Given the description of an element on the screen output the (x, y) to click on. 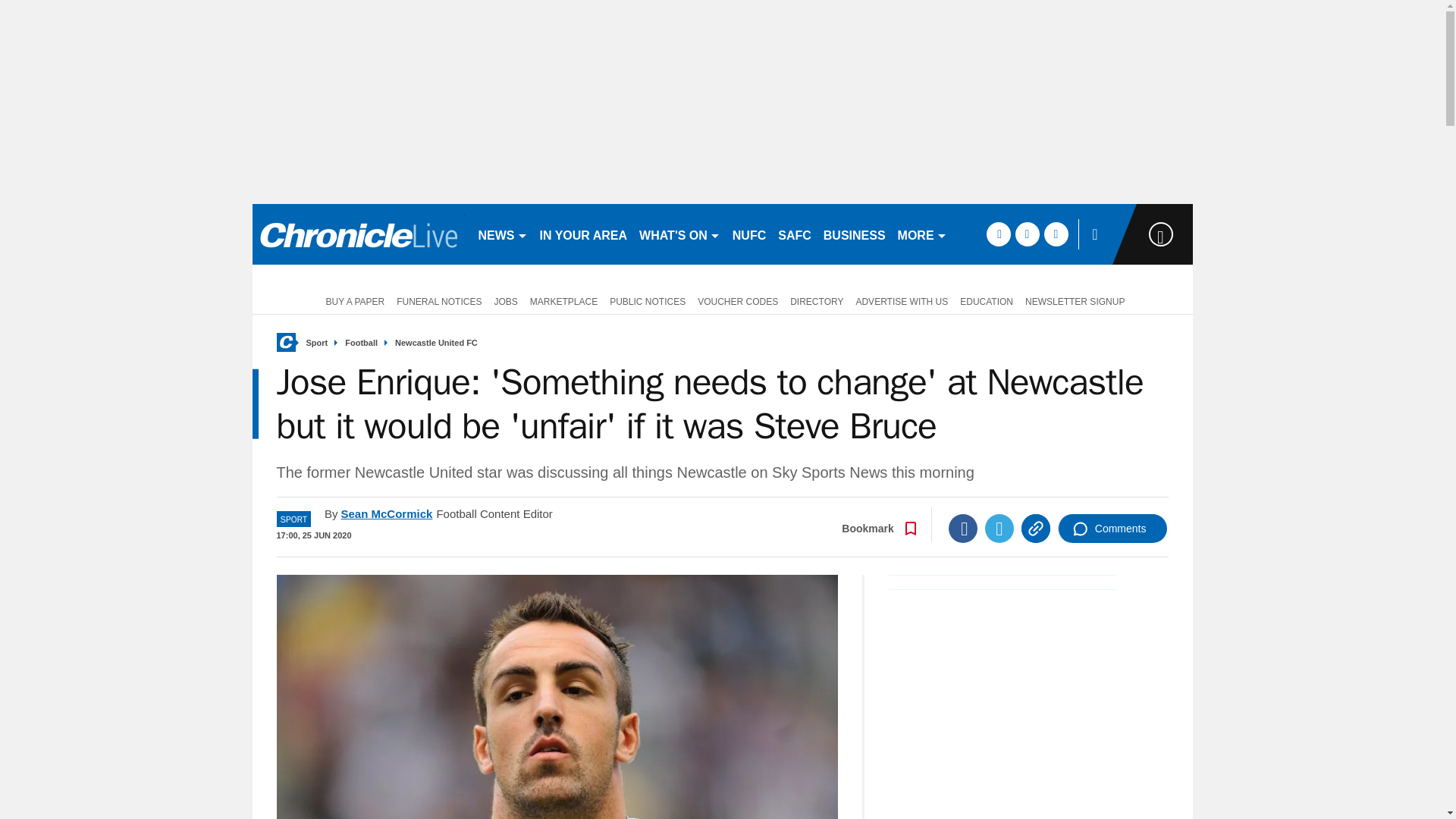
BUSINESS (853, 233)
nechronicle (357, 233)
MORE (922, 233)
IN YOUR AREA (583, 233)
instagram (1055, 233)
Facebook (962, 528)
facebook (997, 233)
NEWS (501, 233)
twitter (1026, 233)
Twitter (999, 528)
Comments (1112, 528)
WHAT'S ON (679, 233)
